Given the description of an element on the screen output the (x, y) to click on. 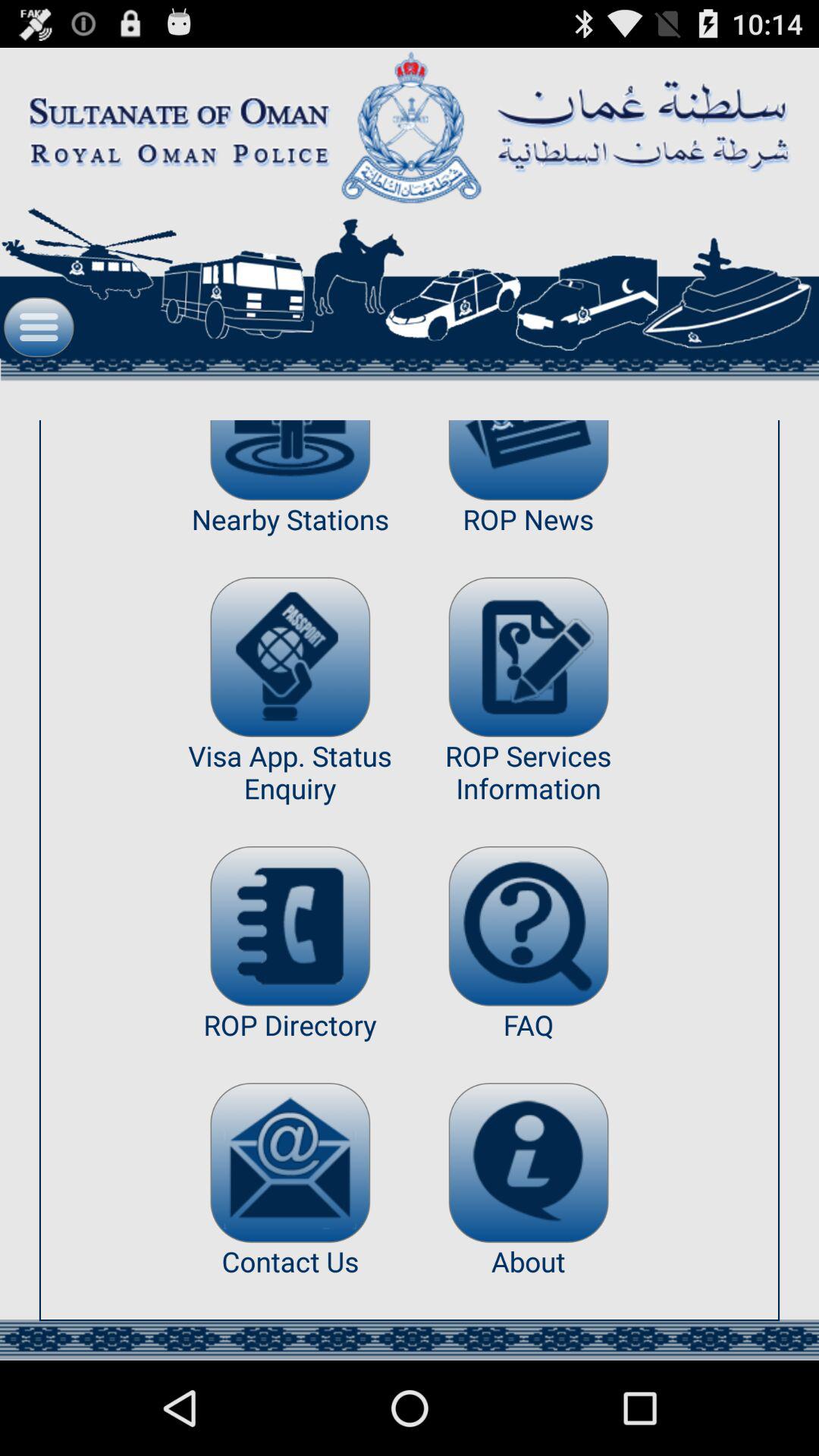
turn on the item to the left of the rop news icon (290, 460)
